Given the description of an element on the screen output the (x, y) to click on. 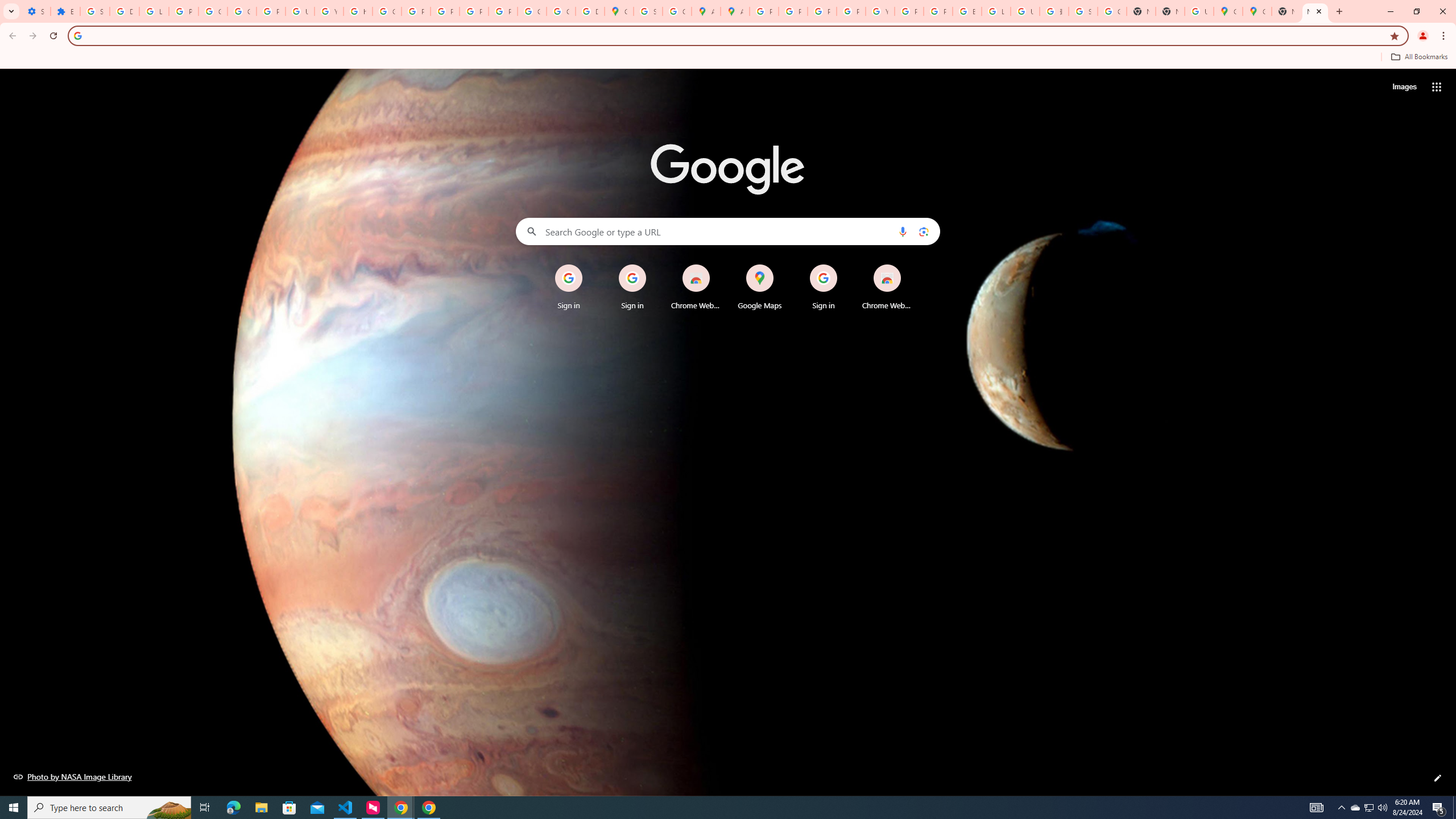
New Tab (1315, 11)
Delete photos & videos - Computer - Google Photos Help (124, 11)
Google Maps (1227, 11)
Sign in - Google Accounts (648, 11)
Privacy Help Center - Policies Help (821, 11)
Search Google or type a URL (727, 230)
Search for Images  (1403, 87)
Google apps (1436, 86)
